Given the description of an element on the screen output the (x, y) to click on. 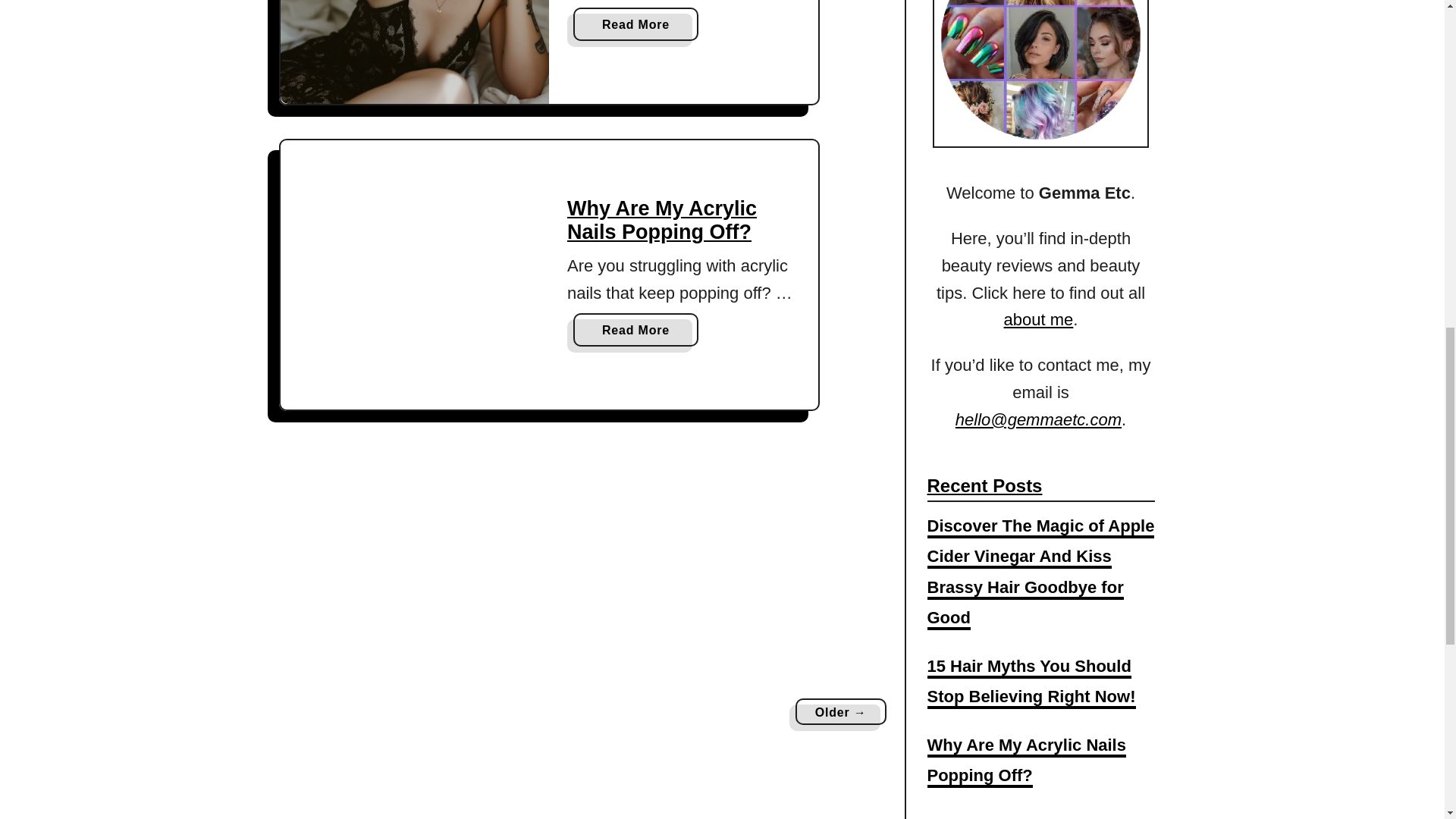
Why Are My Acrylic Nails Popping Off? (415, 274)
Why Are My Acrylic Nails Popping Off? (662, 220)
about me (635, 329)
15 Hair Myths You Should Stop Believing Right Now! (1039, 319)
